Given the description of an element on the screen output the (x, y) to click on. 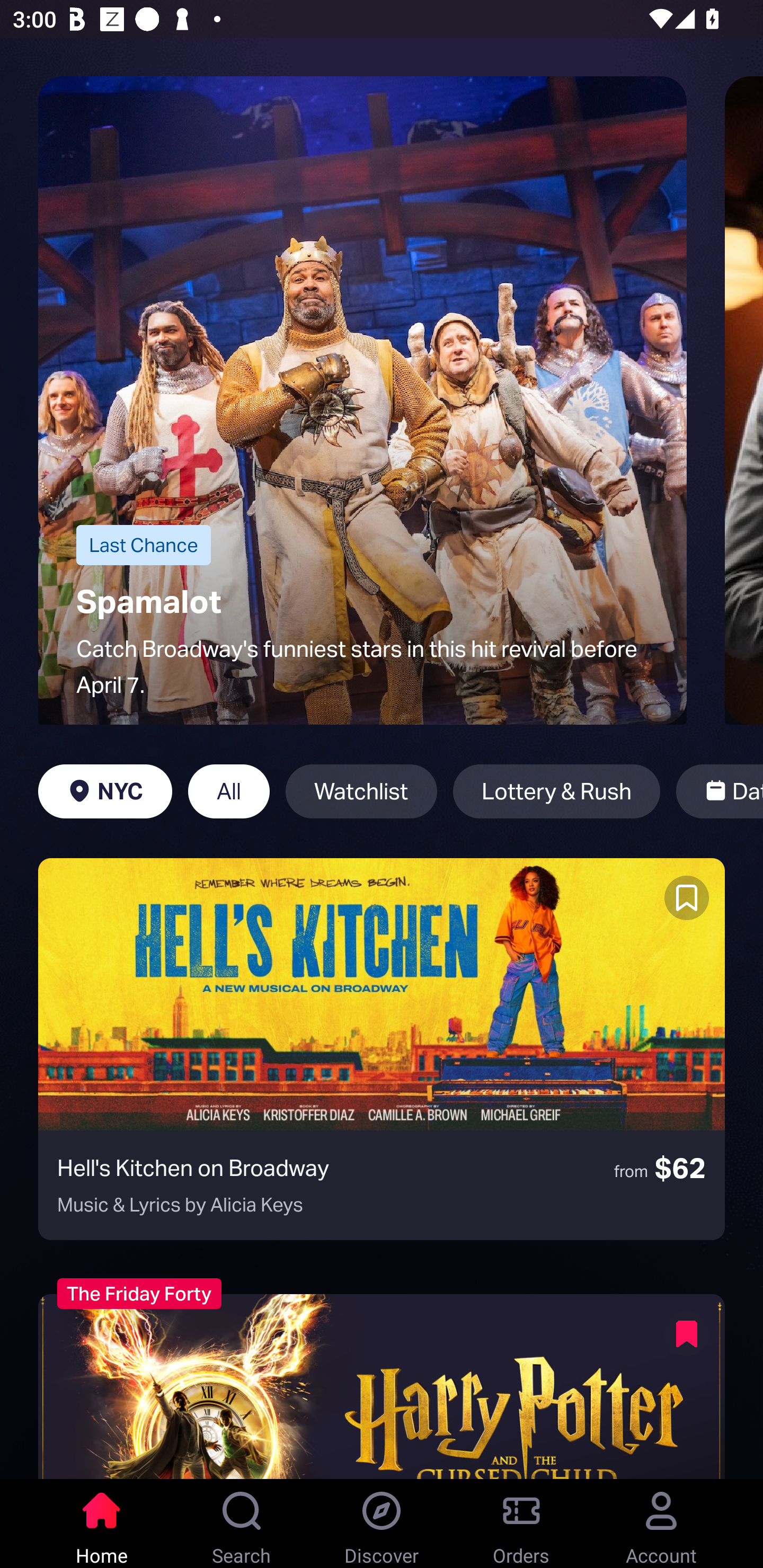
NYC (105, 791)
All (228, 791)
Watchlist (361, 791)
Lottery & Rush (556, 791)
Search (241, 1523)
Discover (381, 1523)
Orders (521, 1523)
Account (660, 1523)
